Given the description of an element on the screen output the (x, y) to click on. 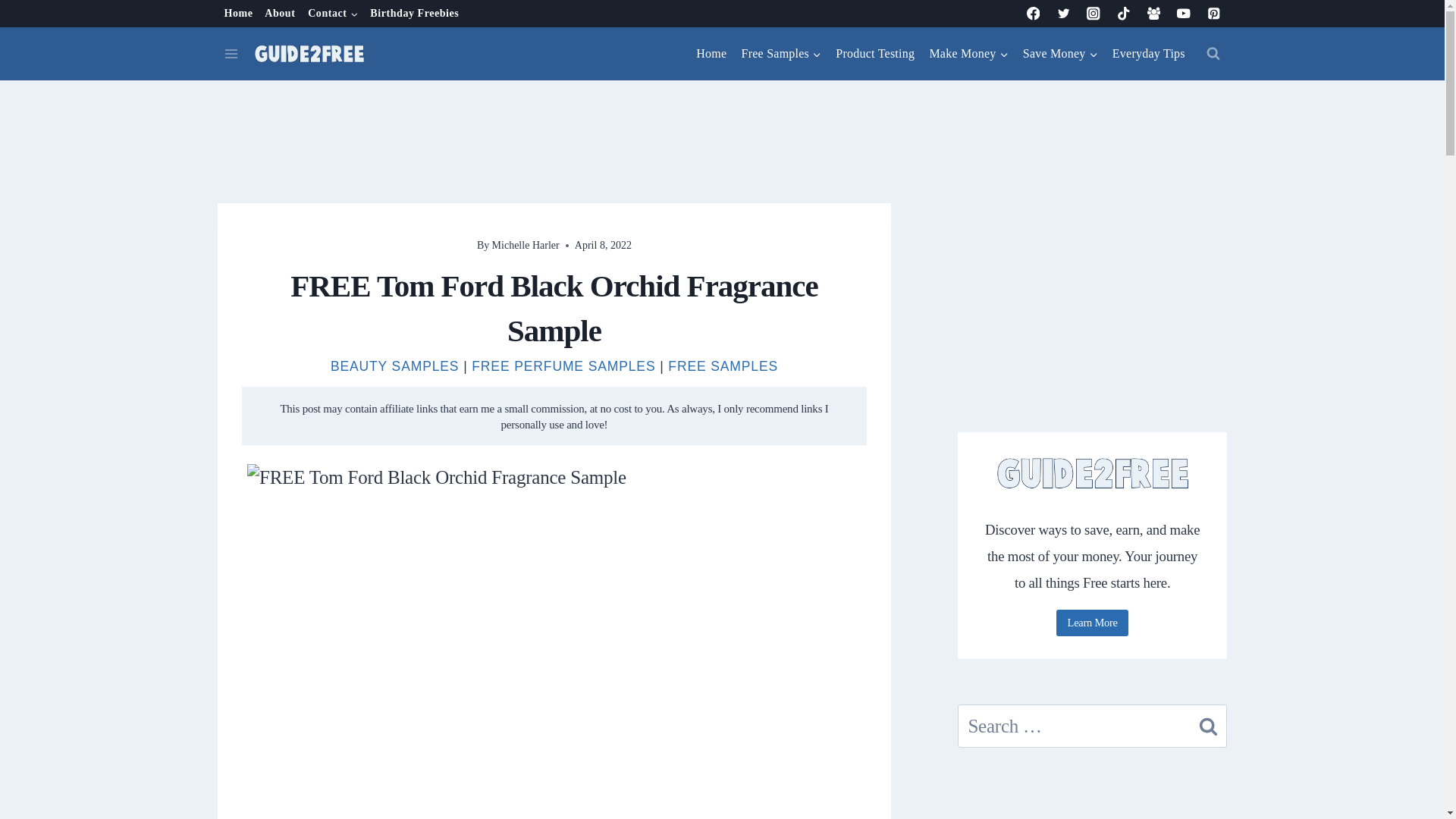
Home (237, 13)
Free Samples (780, 54)
Contact (332, 13)
Birthday Freebies (414, 13)
Home (710, 54)
About (280, 13)
